Given the description of an element on the screen output the (x, y) to click on. 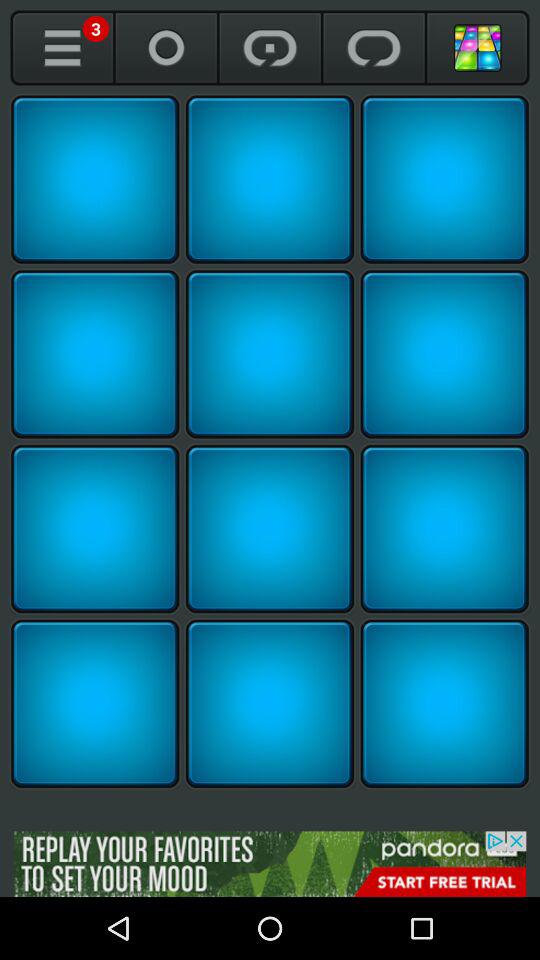
reveal square (95, 179)
